Given the description of an element on the screen output the (x, y) to click on. 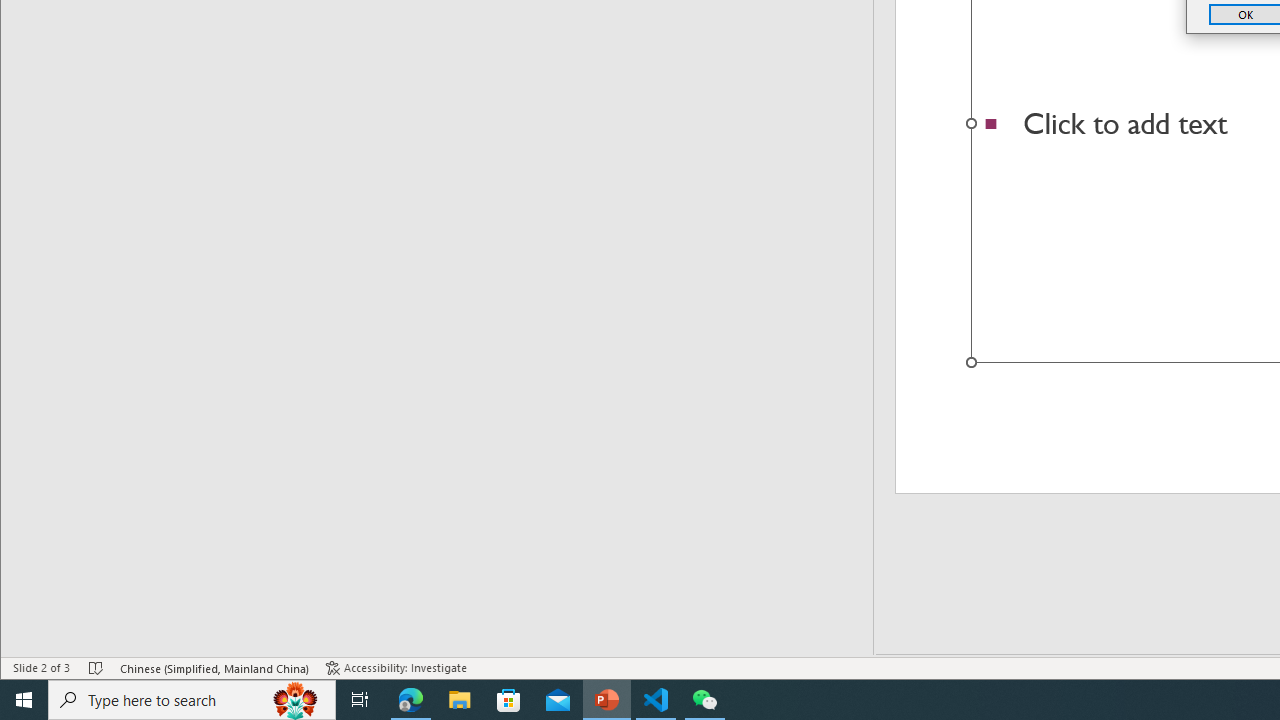
Start (24, 699)
Microsoft Edge - 1 running window (411, 699)
PowerPoint - 1 running window (607, 699)
Visual Studio Code - 1 running window (656, 699)
WeChat - 1 running window (704, 699)
Search highlights icon opens search home window (295, 699)
Task View (359, 699)
Microsoft Store (509, 699)
Type here to search (191, 699)
File Explorer (460, 699)
